Given the description of an element on the screen output the (x, y) to click on. 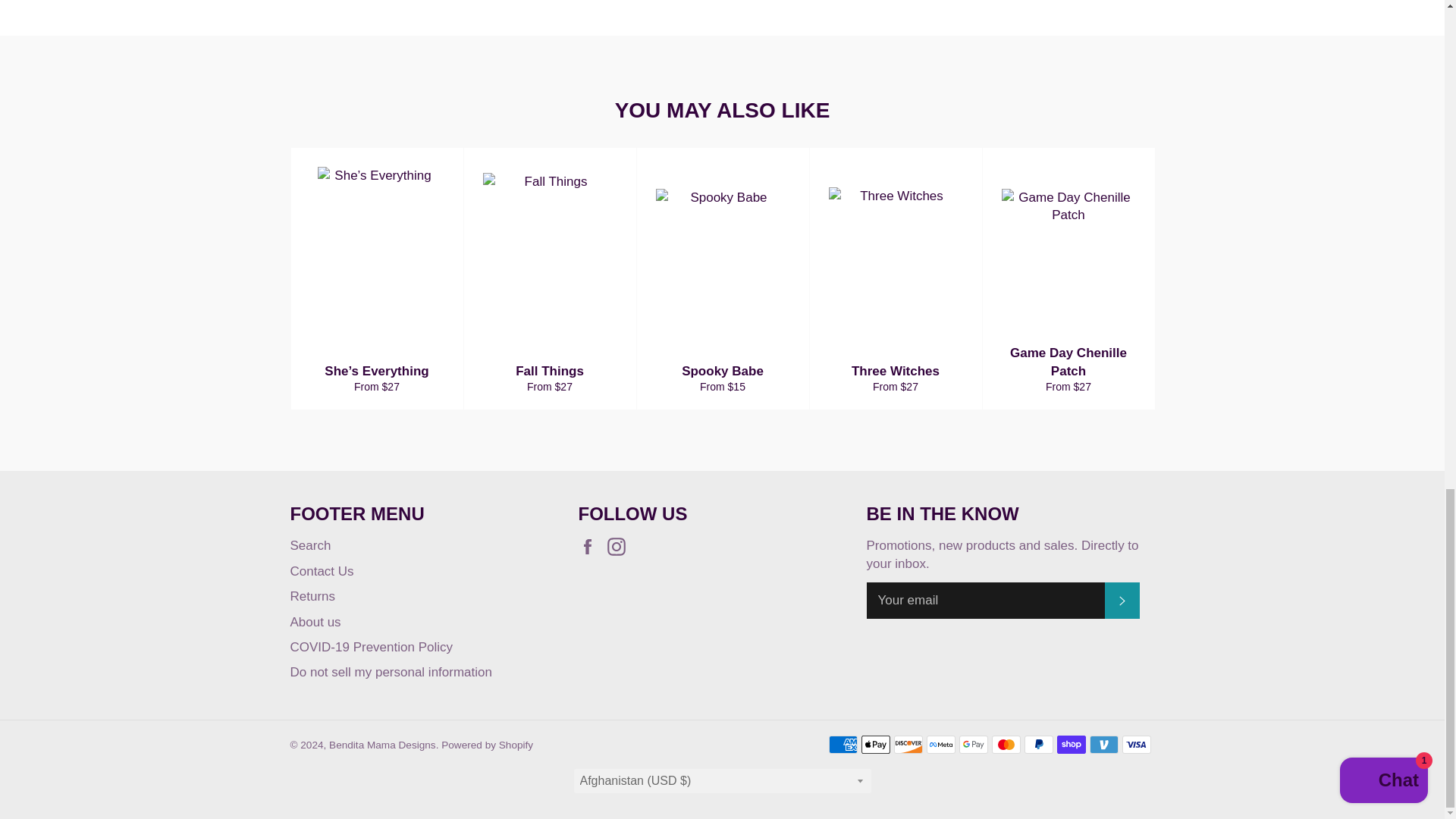
Bendita Mama Designs on Facebook (591, 546)
Bendita Mama Designs on Instagram (620, 546)
